Given the description of an element on the screen output the (x, y) to click on. 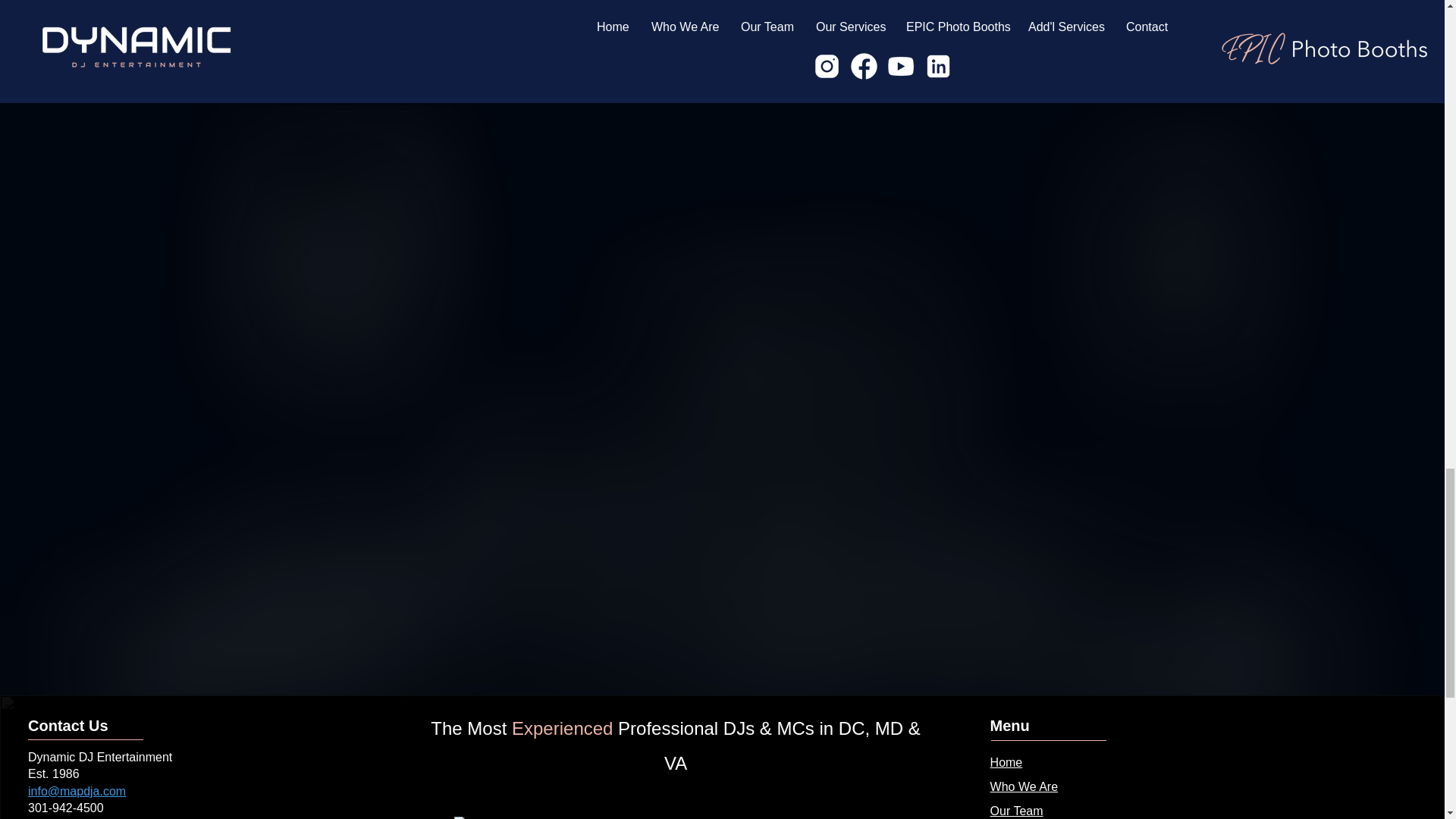
Our Team (1016, 810)
Home (1006, 762)
Who We Are (1024, 786)
